Given the description of an element on the screen output the (x, y) to click on. 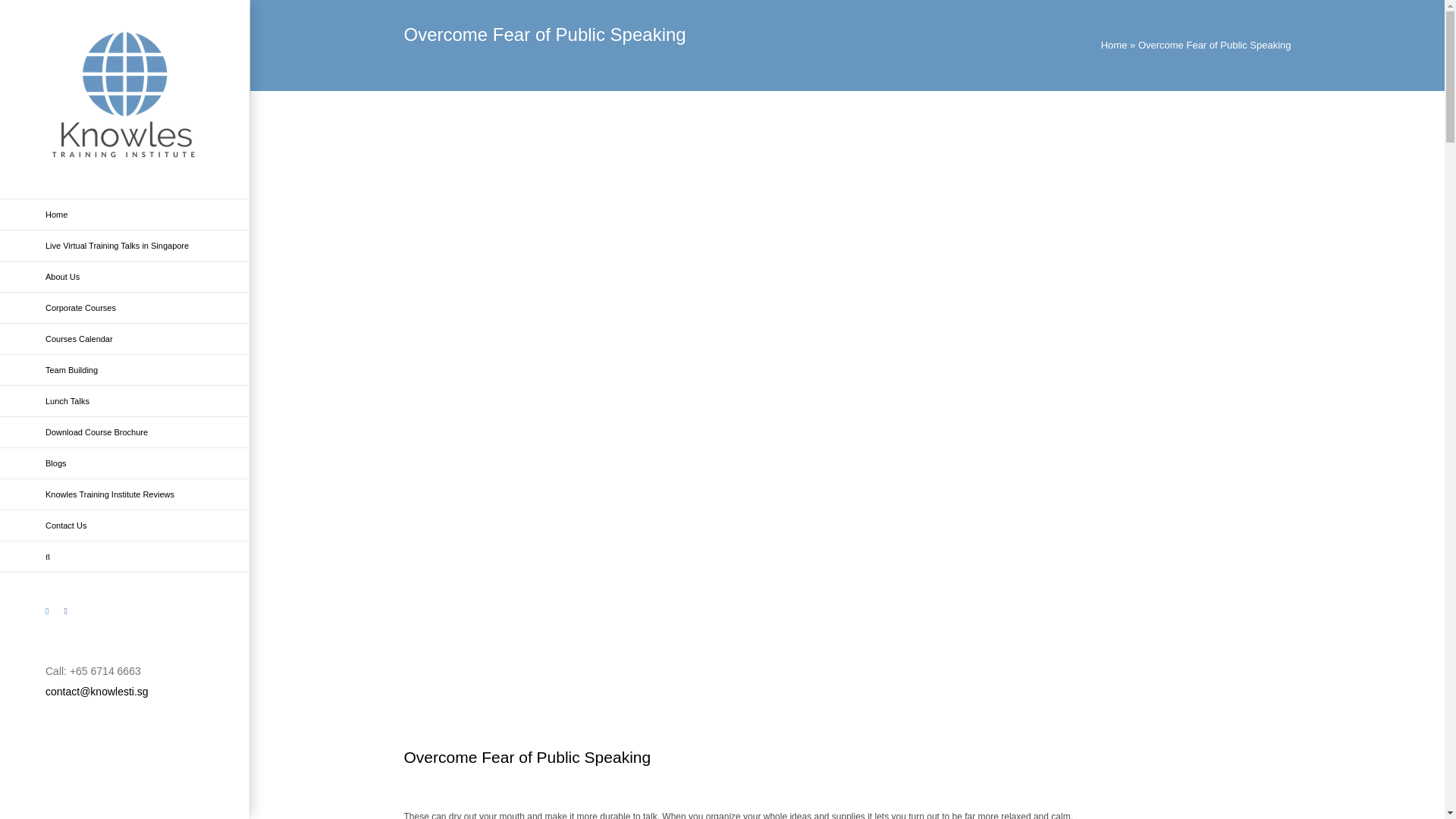
About Us (125, 276)
Download Course Brochure (125, 431)
Blogs (125, 463)
Lunch Talks (125, 400)
Contact Us (125, 525)
Knowles Training Institute Reviews (125, 494)
Corporate Courses (125, 307)
Search (125, 556)
